Given the description of an element on the screen output the (x, y) to click on. 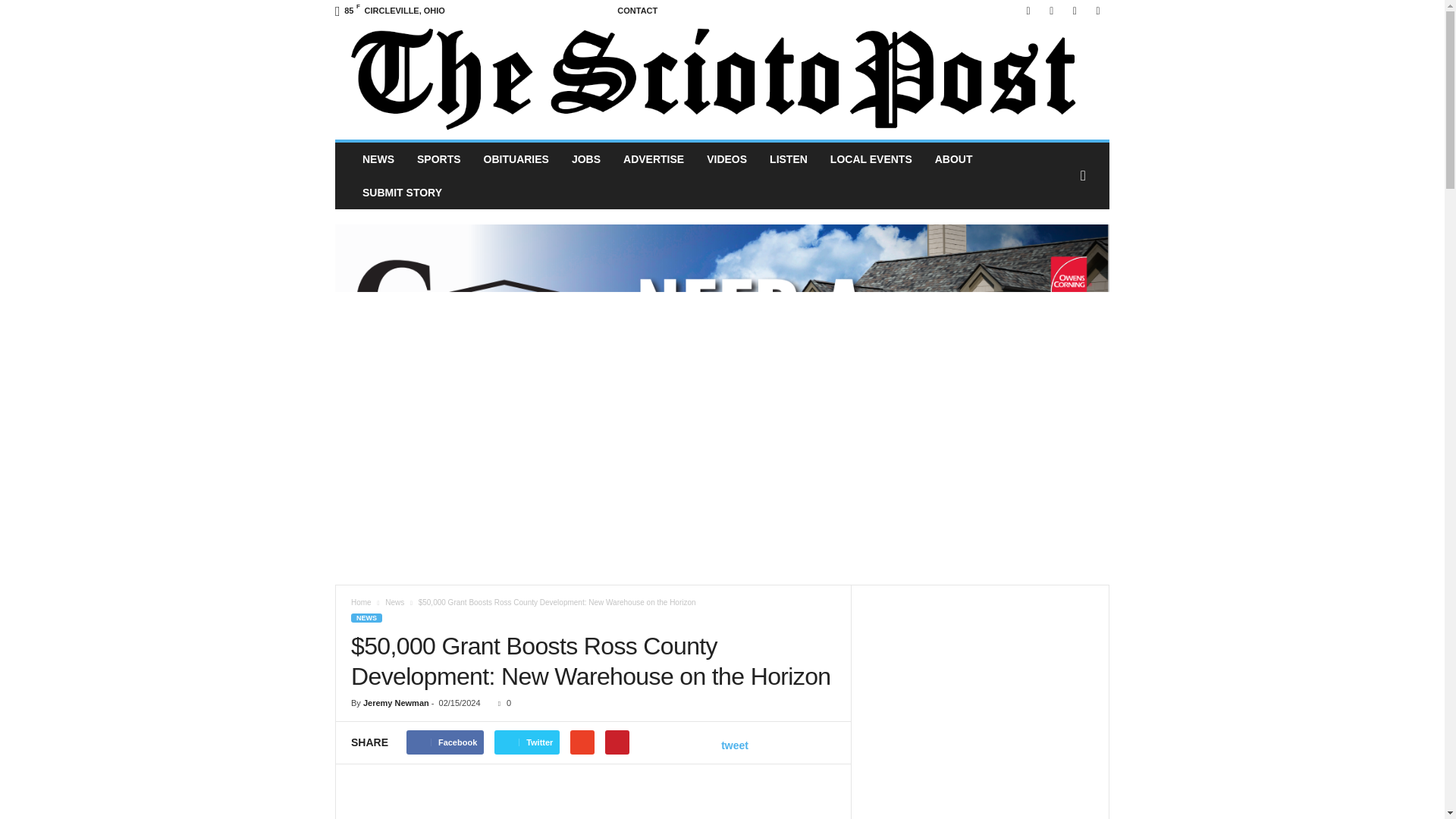
LISTEN (788, 159)
VIDEOS (726, 159)
View all posts in News (394, 602)
JOBS (585, 159)
Scioto Post (721, 80)
NEWS (378, 159)
OBITUARIES (515, 159)
ABOUT (953, 159)
LOCAL EVENTS (870, 159)
CONTACT (637, 10)
